Given the description of an element on the screen output the (x, y) to click on. 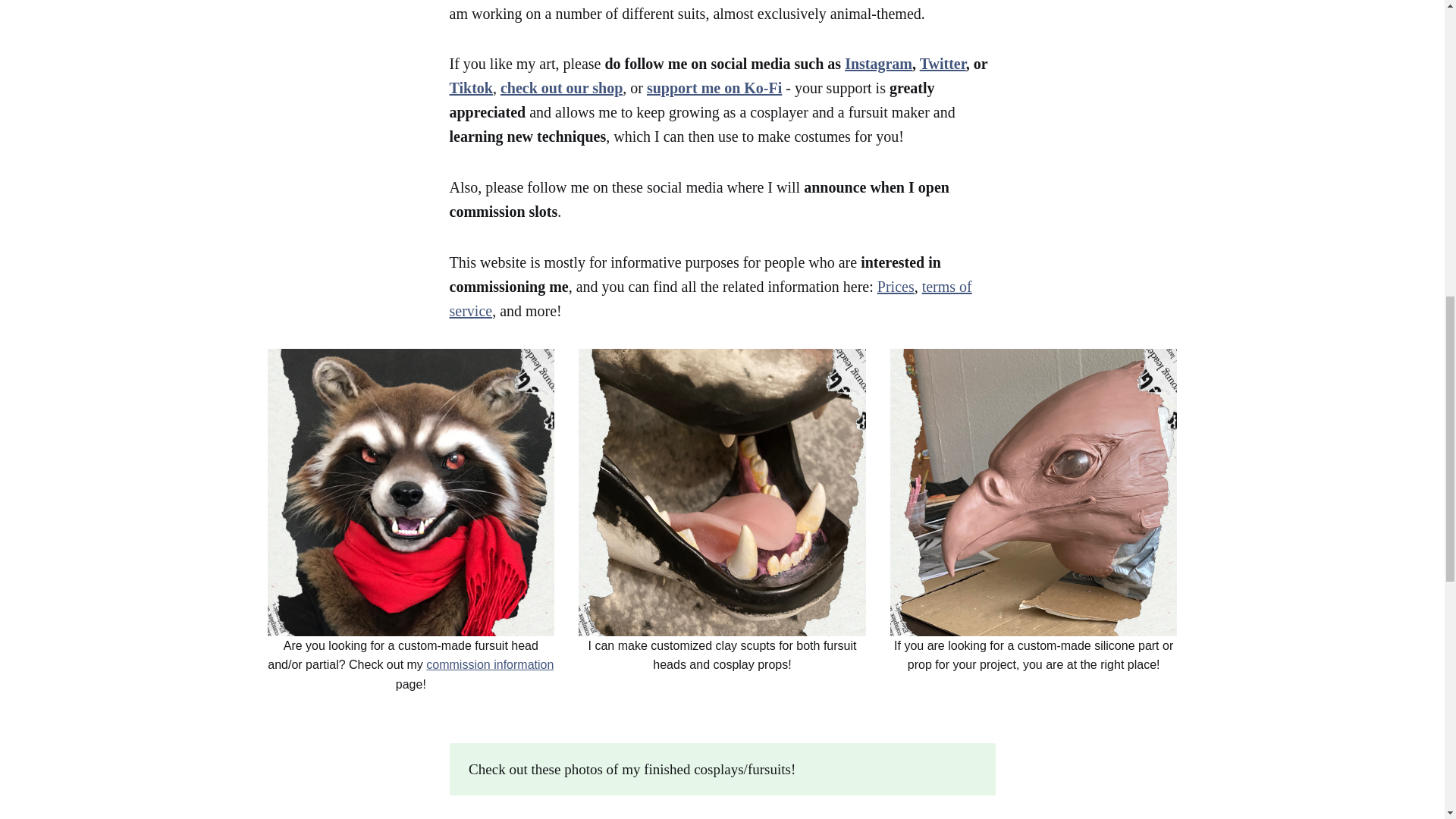
check out our shop (561, 87)
Tiktok (470, 87)
commission information (489, 664)
Instagram (878, 63)
Twitter (943, 63)
terms of service (709, 298)
Prices (895, 286)
support me on Ko-Fi (713, 87)
